Given the description of an element on the screen output the (x, y) to click on. 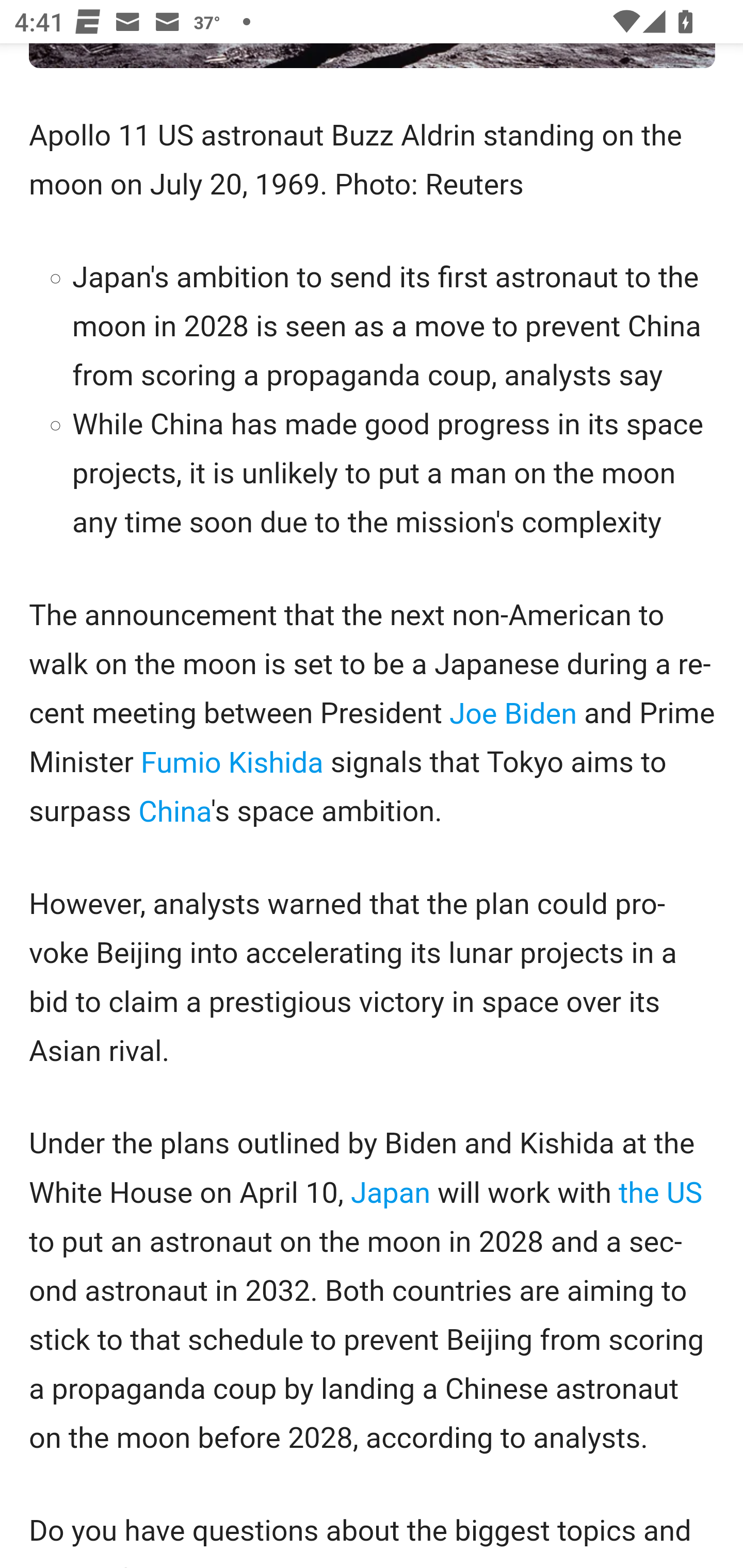
Joe Biden (513, 714)
Fumio Kishida (231, 763)
China (174, 811)
Japan (390, 1194)
the US (660, 1194)
